Given the description of an element on the screen output the (x, y) to click on. 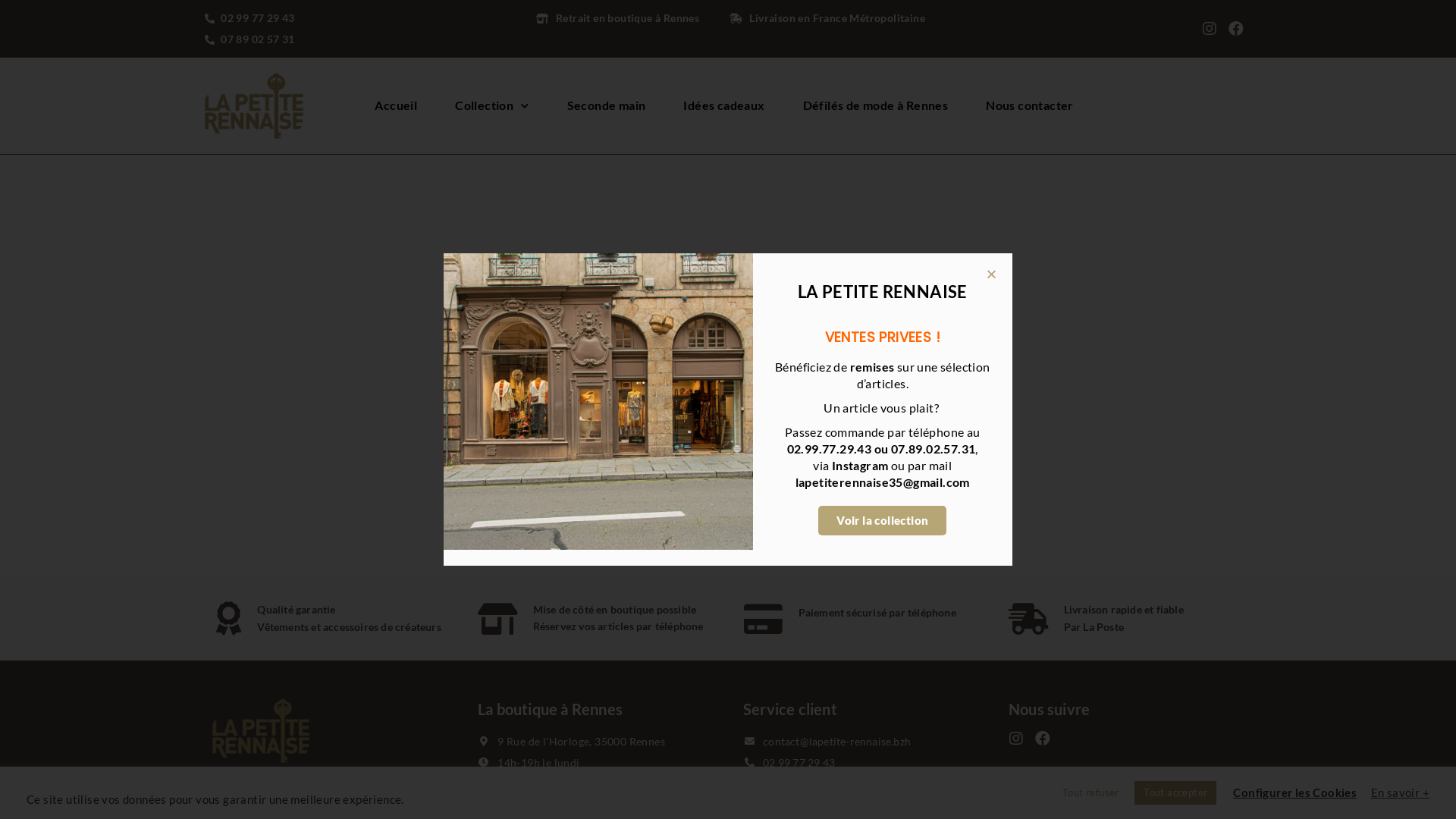
Voir la collection Element type: text (882, 520)
En savoir + Element type: text (1400, 792)
contact@lapetite-rennaise.bzh Element type: text (860, 741)
Collection Element type: text (491, 105)
Accueil Element type: text (395, 105)
Tout accepter Element type: text (1175, 792)
Recherche Element type: text (955, 428)
02 99 77 29 43 Element type: text (298, 17)
02 99 77 29 43 Element type: text (860, 762)
Nous contacter Element type: text (1029, 105)
Seconde main Element type: text (606, 105)
Instagram  Element type: text (861, 465)
Tout refuser Element type: text (1090, 792)
07 89 02 57 31 Element type: text (298, 39)
Configurer les Cookies Element type: text (1294, 792)
07 89 02 57 31 Element type: text (860, 783)
